Given the description of an element on the screen output the (x, y) to click on. 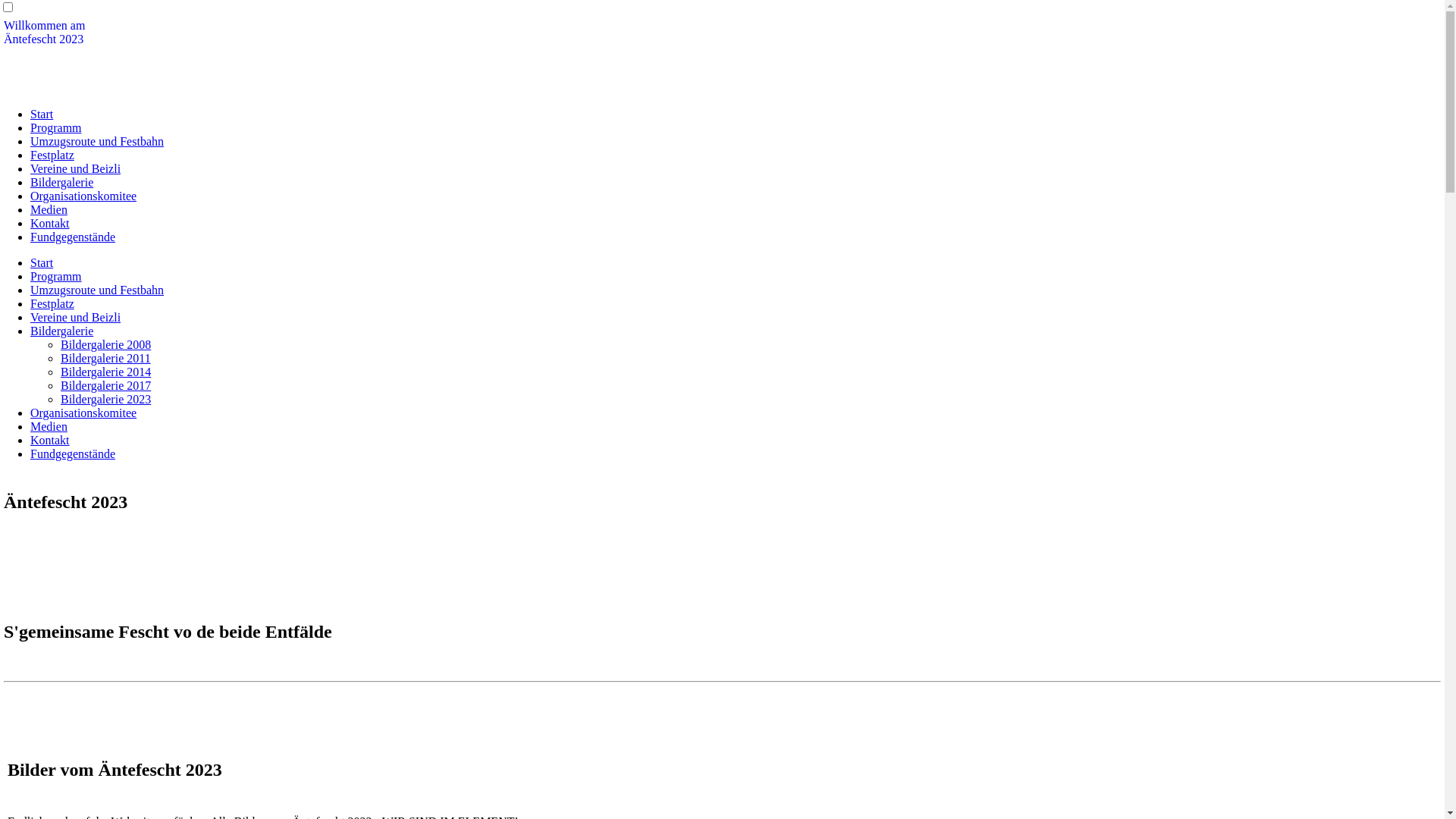
Bildergalerie 2017 Element type: text (105, 385)
Umzugsroute und Festbahn Element type: text (96, 289)
Bildergalerie Element type: text (61, 181)
Medien Element type: text (48, 209)
Vereine und Beizli Element type: text (75, 316)
Start Element type: text (41, 113)
Festplatz Element type: text (52, 154)
Bildergalerie 2023 Element type: text (105, 398)
Start Element type: text (41, 262)
Kontakt Element type: text (49, 439)
Vereine und Beizli Element type: text (75, 168)
Bildergalerie 2014 Element type: text (105, 371)
Medien Element type: text (48, 426)
Bildergalerie 2011 Element type: text (105, 357)
Programm Element type: text (55, 275)
Festplatz Element type: text (52, 303)
Bildergalerie 2008 Element type: text (105, 344)
Kontakt Element type: text (49, 222)
Programm Element type: text (55, 127)
Bildergalerie Element type: text (61, 330)
Organisationskomitee Element type: text (83, 195)
Organisationskomitee Element type: text (83, 412)
Umzugsroute und Festbahn Element type: text (96, 140)
